Given the description of an element on the screen output the (x, y) to click on. 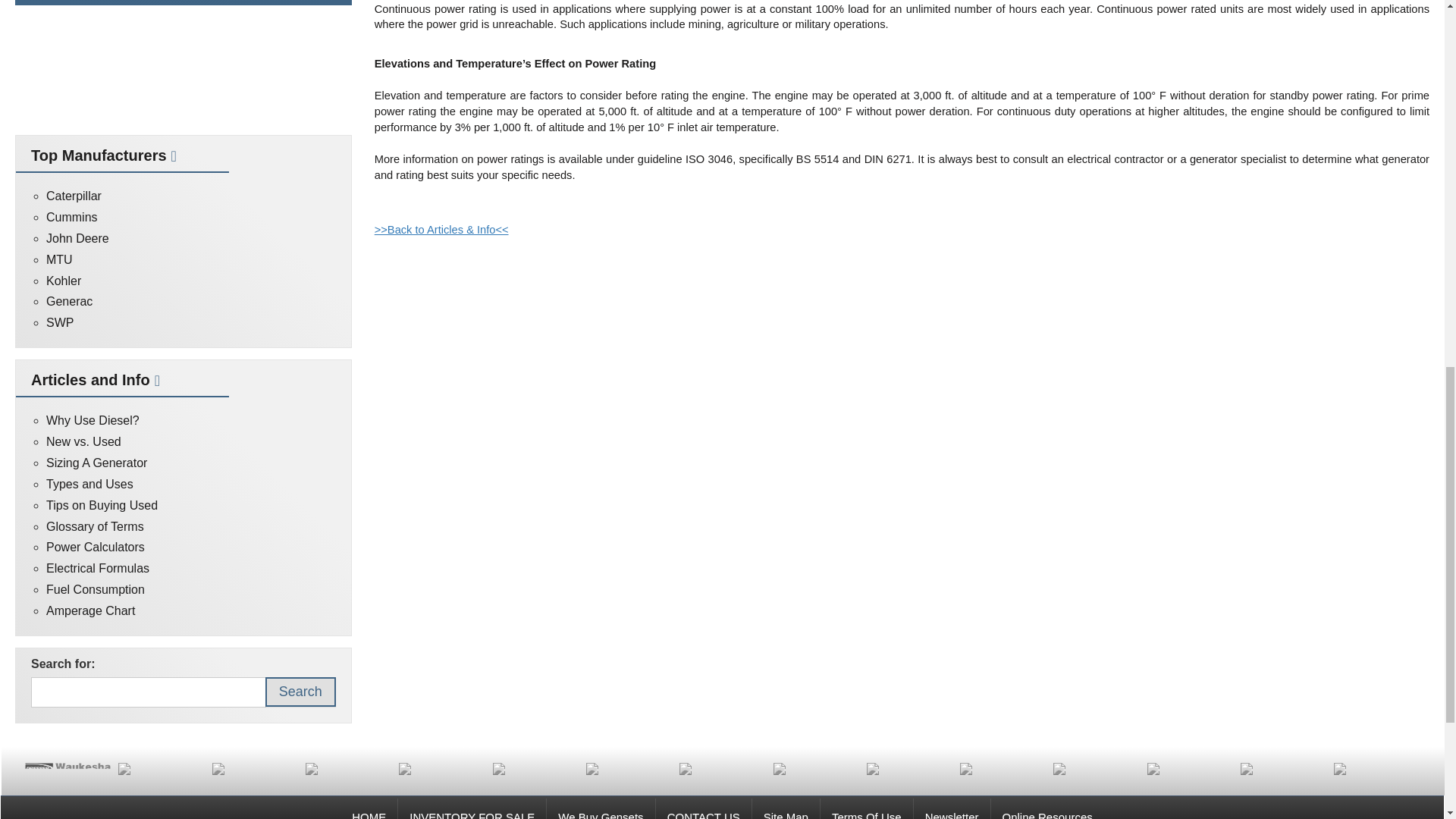
baldor (1095, 768)
kohler (348, 768)
magnum (1376, 768)
katolight (441, 768)
asco (1190, 768)
Search (300, 692)
caterpillar (1002, 768)
ir (628, 768)
waukesha (67, 766)
mq (255, 768)
